Given the description of an element on the screen output the (x, y) to click on. 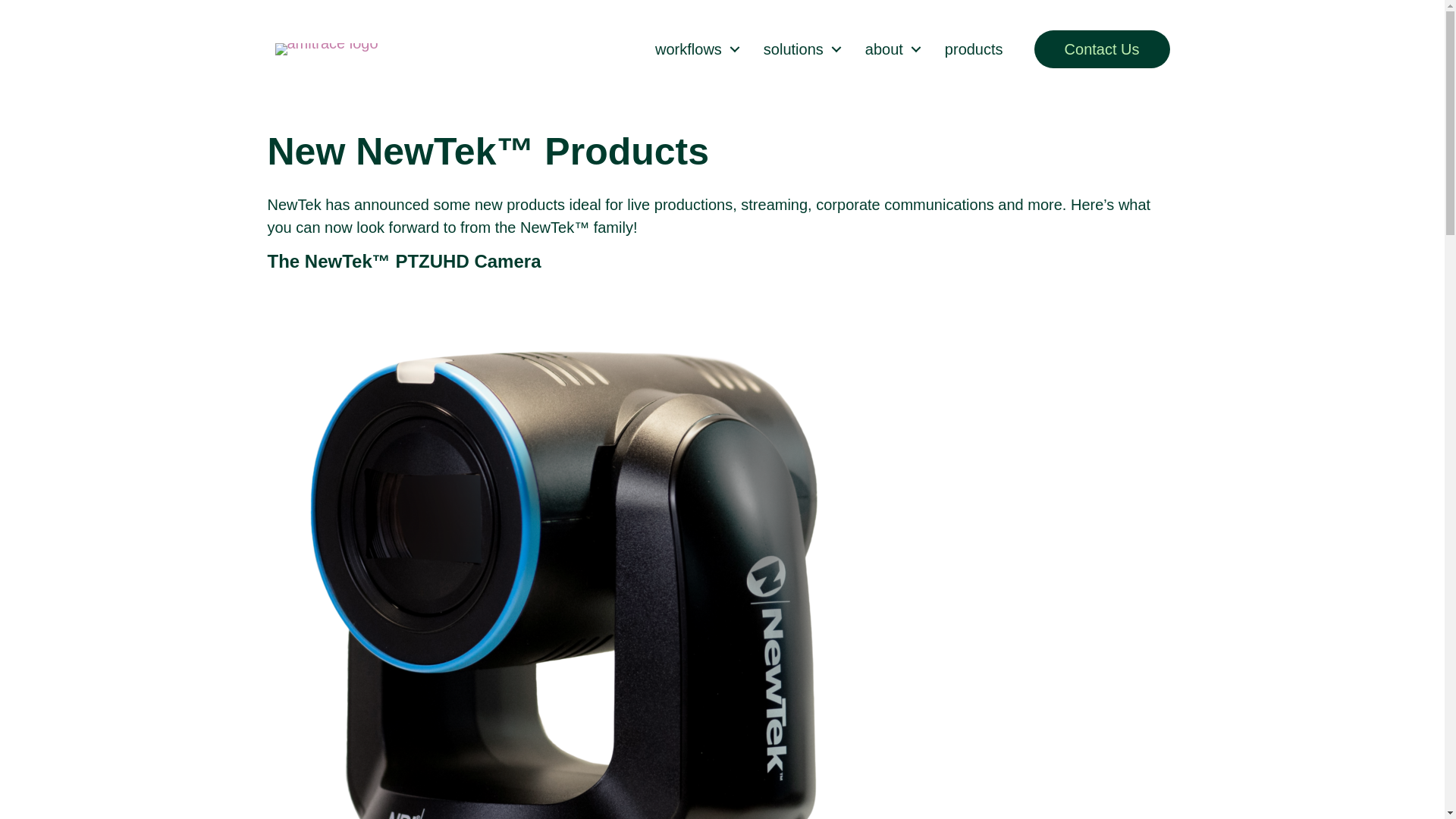
about (889, 49)
workflows (694, 49)
Contact Us (1101, 48)
solutions (798, 49)
amitrace logo (326, 49)
products (973, 49)
